Given the description of an element on the screen output the (x, y) to click on. 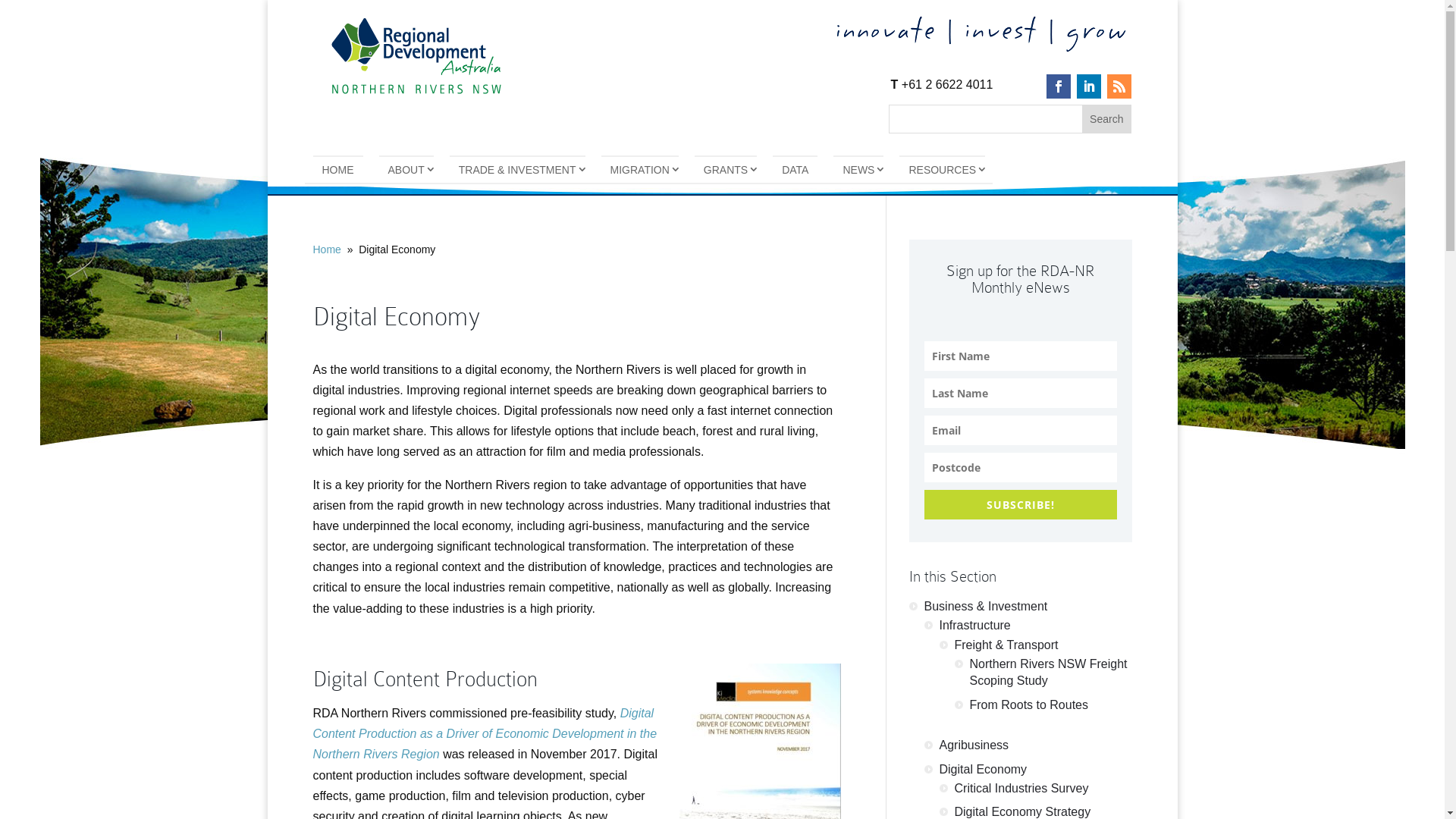
Digital Economy Element type: text (982, 768)
MIGRATION Element type: text (639, 168)
Northern Rivers NSW Freight Scoping Study Element type: text (1047, 672)
NEWS Element type: text (858, 168)
GRANTS Element type: text (725, 168)
RESOURCES Element type: text (942, 168)
TRADE & INVESTMENT Element type: text (517, 168)
Freight & Transport Element type: text (1005, 644)
DATA Element type: text (794, 168)
From Roots to Routes Element type: text (1028, 704)
Follow on LinkedIn Element type: hover (1088, 86)
HOME Element type: text (337, 168)
Follow on Facebook Element type: hover (1058, 86)
Agribusiness Element type: text (973, 744)
ABOUT Element type: text (406, 168)
Digital Economy Strategy Element type: text (1021, 811)
SUBSCRIBE! Element type: text (1019, 504)
Infrastructure Element type: text (974, 624)
Follow on RSS Element type: hover (1119, 86)
Critical Industries Survey Element type: text (1020, 787)
Home Element type: text (326, 249)
Search Element type: text (1106, 118)
Business & Investment Element type: text (985, 605)
